Given the description of an element on the screen output the (x, y) to click on. 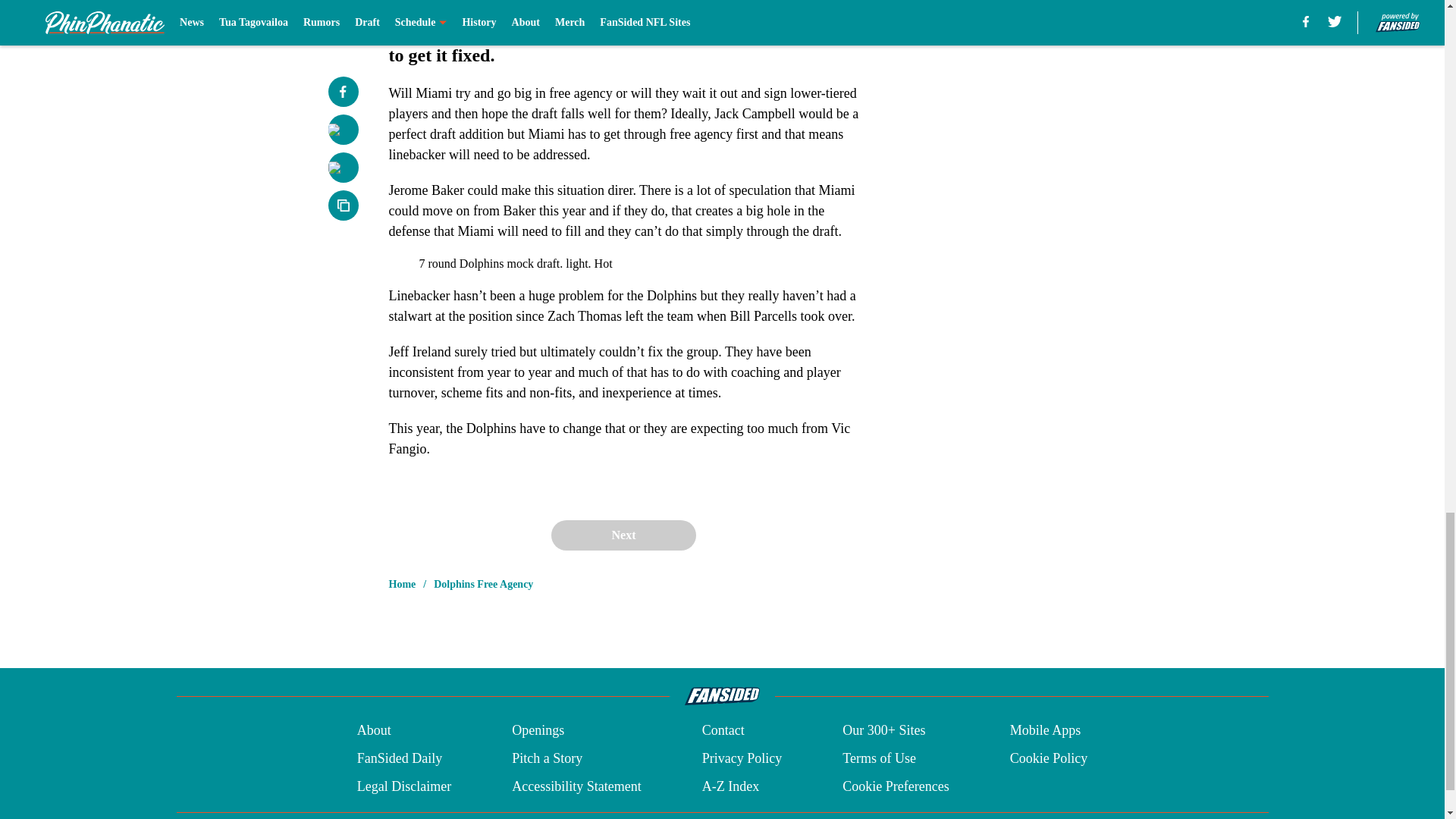
Privacy Policy (742, 758)
A-Z Index (729, 786)
Cookie Policy (1048, 758)
Pitch a Story (547, 758)
Openings (538, 730)
Contact (722, 730)
Accessibility Statement (576, 786)
Dolphins Free Agency (482, 584)
Legal Disclaimer (403, 786)
Mobile Apps (1045, 730)
